Given the description of an element on the screen output the (x, y) to click on. 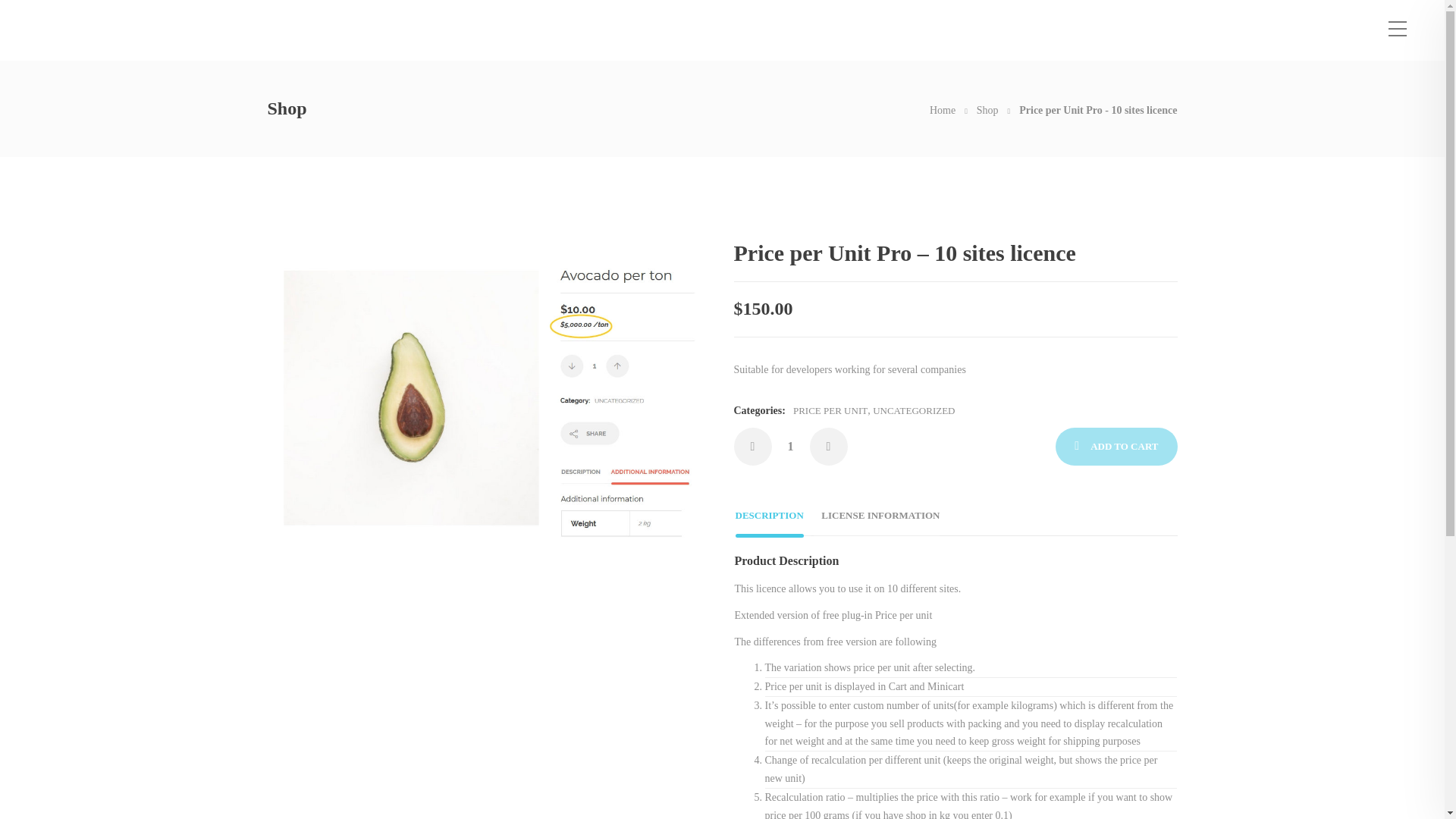
Price per Unit Pro - 10 sites licence (1097, 110)
Recalculation ratio - Frontend (485, 401)
1 (790, 446)
Products (987, 110)
Home (942, 110)
